Given the description of an element on the screen output the (x, y) to click on. 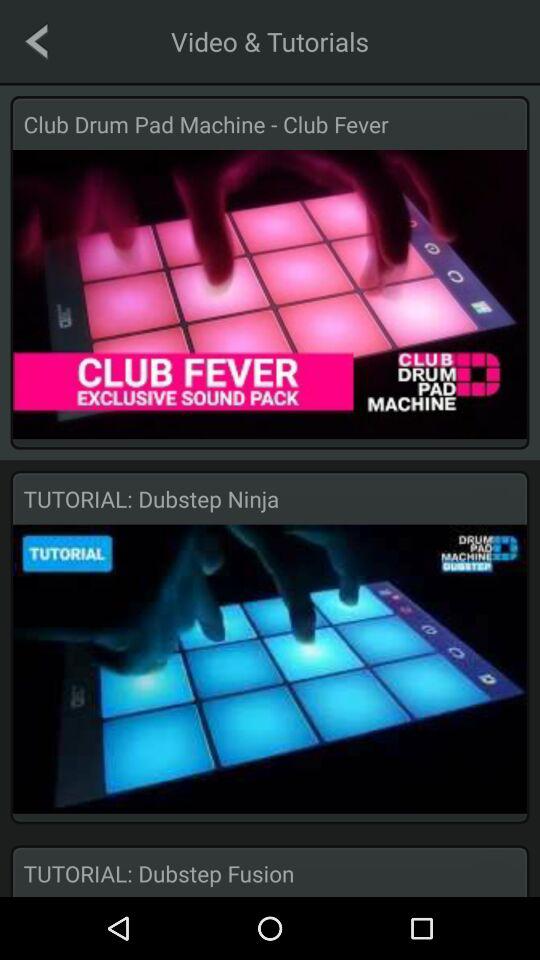
swipe to club drum pad item (269, 124)
